Given the description of an element on the screen output the (x, y) to click on. 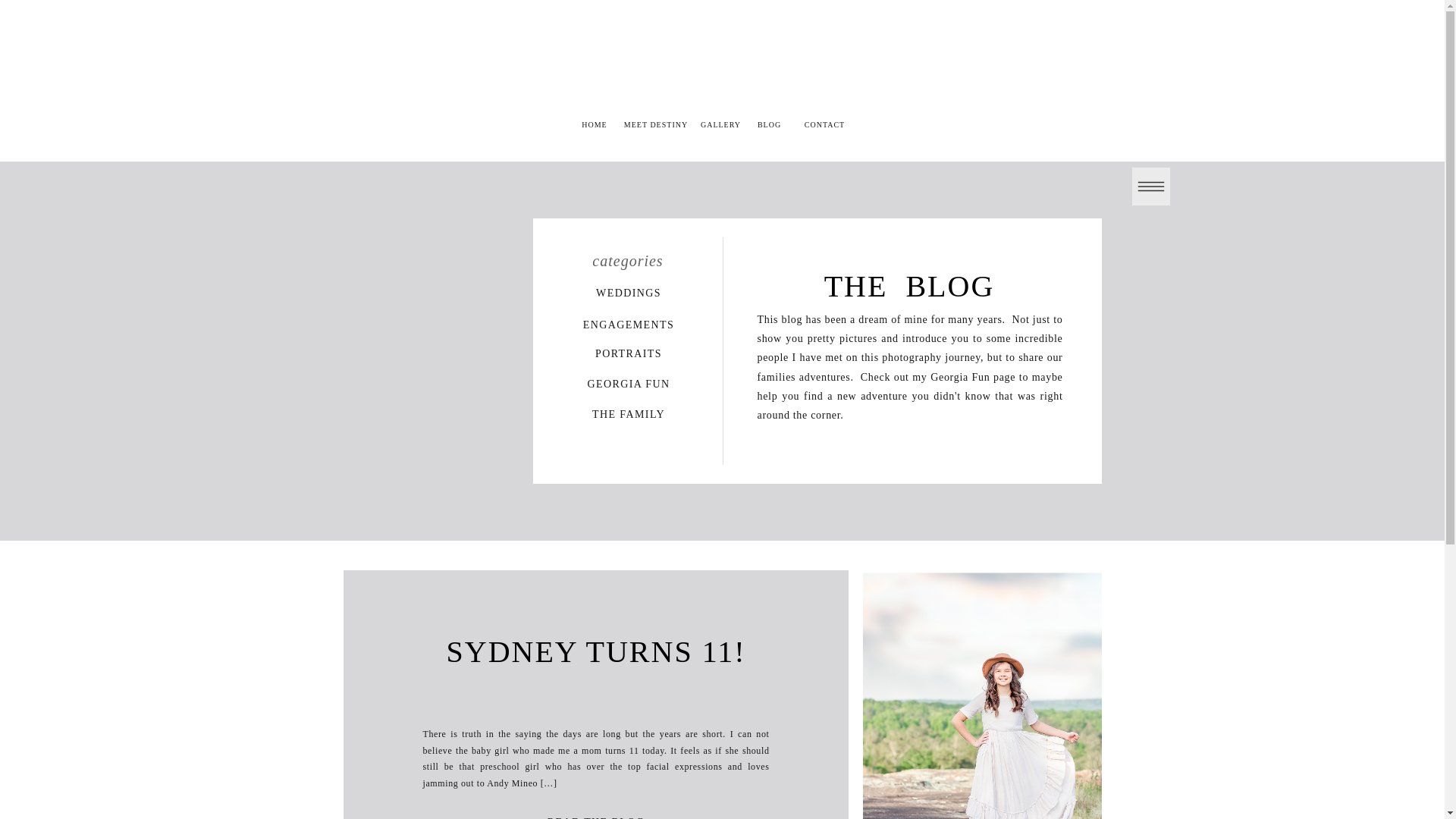
WEDDINGS (627, 290)
HOME (594, 125)
MEET DESTINY (655, 125)
READ THE BLOG (596, 816)
GALLERY (721, 124)
PORTRAITS (627, 350)
THE FAMILY (627, 411)
SYDNEY TURNS 11! (595, 651)
BLOG (769, 124)
GEORGIA FUN (627, 381)
CONTACT (825, 124)
Sydney turns 11! (596, 816)
ENGAGEMENTS (627, 322)
